Given the description of an element on the screen output the (x, y) to click on. 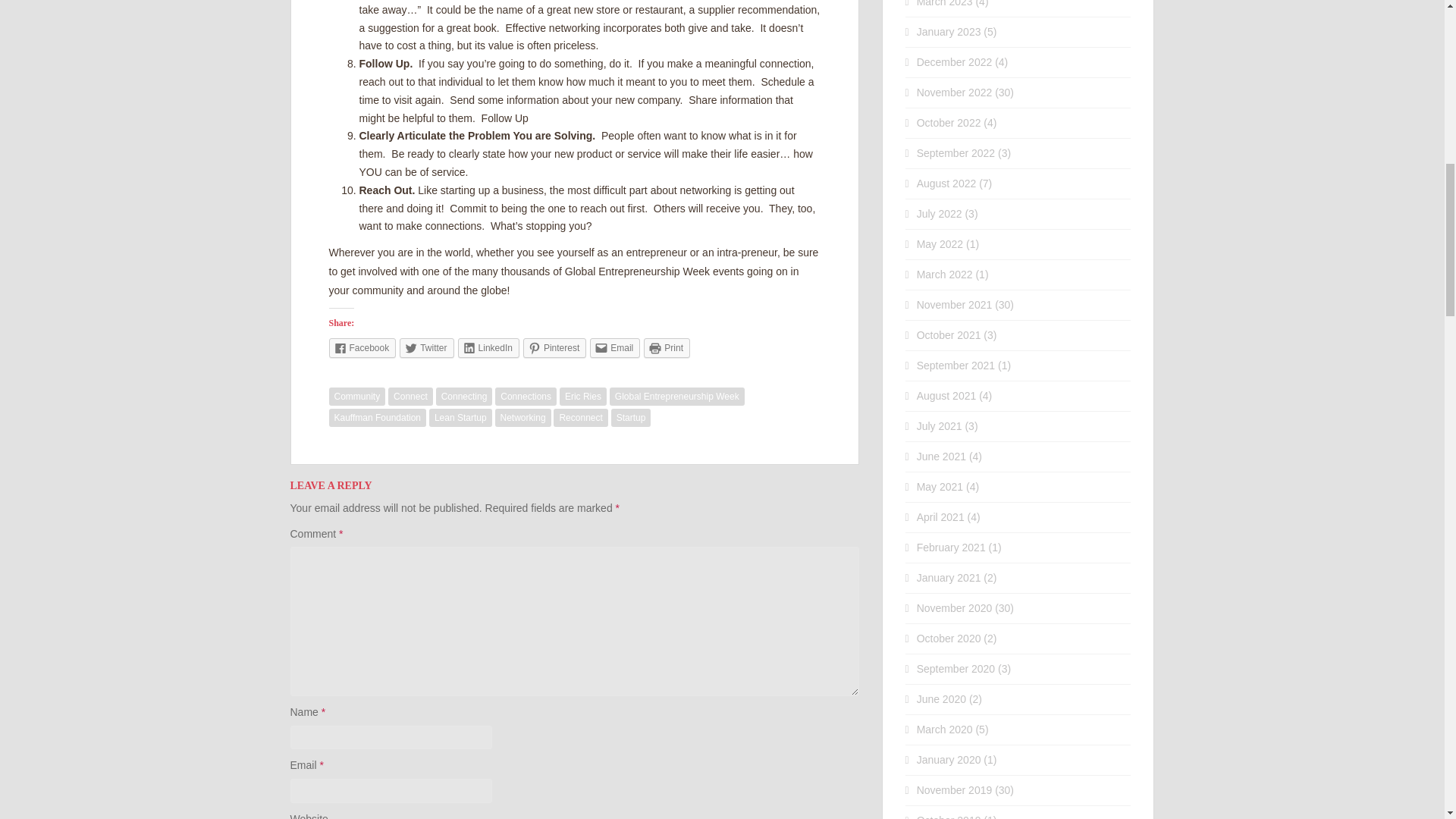
Connecting (464, 396)
Print (666, 347)
Community (357, 396)
Reconnect (580, 417)
Pinterest (554, 347)
Kauffman Foundation (377, 417)
Email (614, 347)
Eric Ries (583, 396)
Connections (525, 396)
Click to email this to a friend (614, 347)
